Given the description of an element on the screen output the (x, y) to click on. 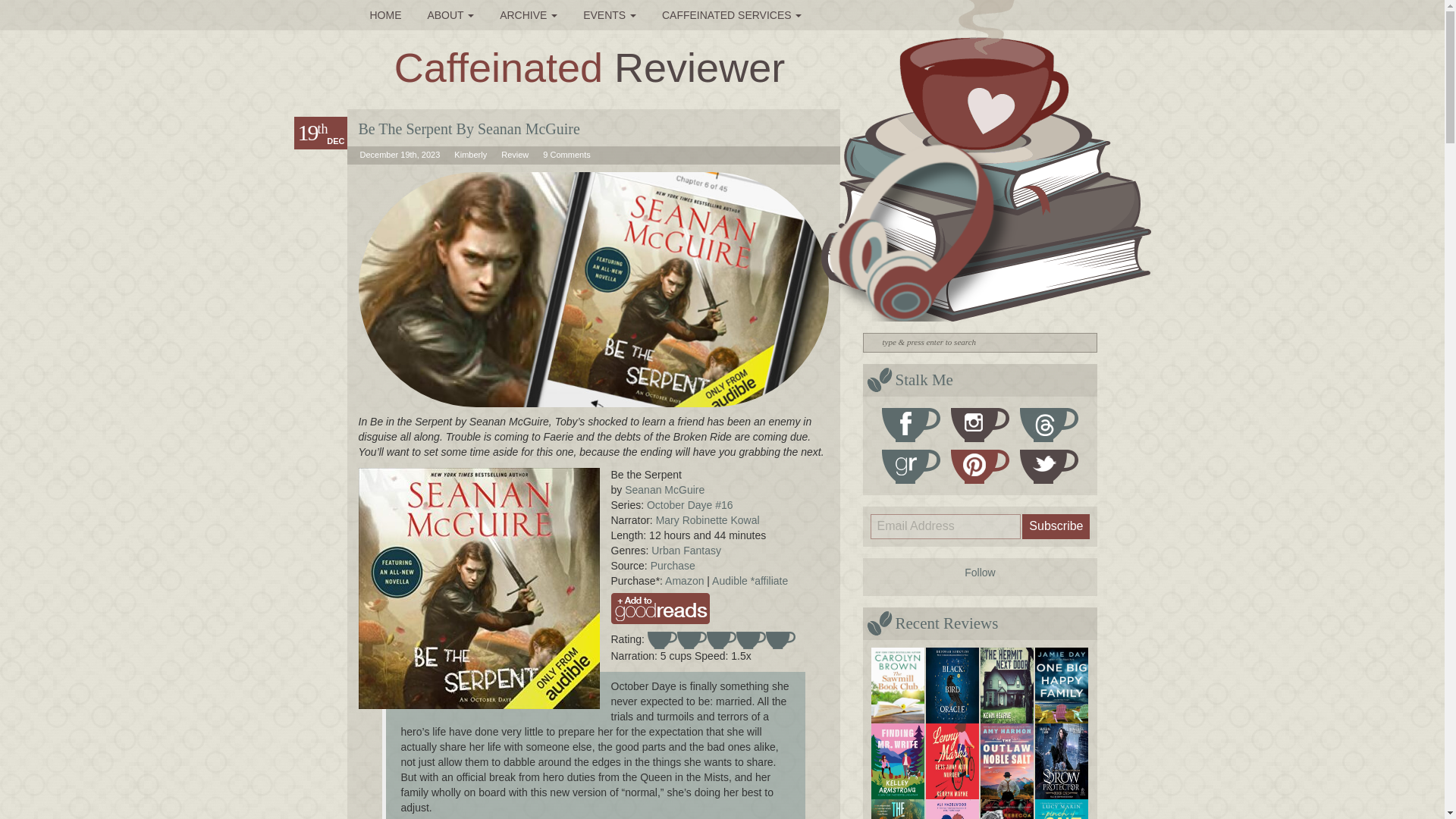
Please fill in this field. (946, 526)
Purchase (672, 565)
Caffeinated Reviewer (589, 67)
CAFFEINATED SERVICES (731, 15)
ABOUT (449, 15)
Audible (729, 580)
HOME (385, 15)
Review (514, 153)
Seanan McGuire (664, 490)
EVENTS (609, 15)
Urban Fantasy (685, 550)
Amazon (685, 580)
Kimberly (470, 153)
9 Comments (566, 153)
ARCHIVE (528, 15)
